Given the description of an element on the screen output the (x, y) to click on. 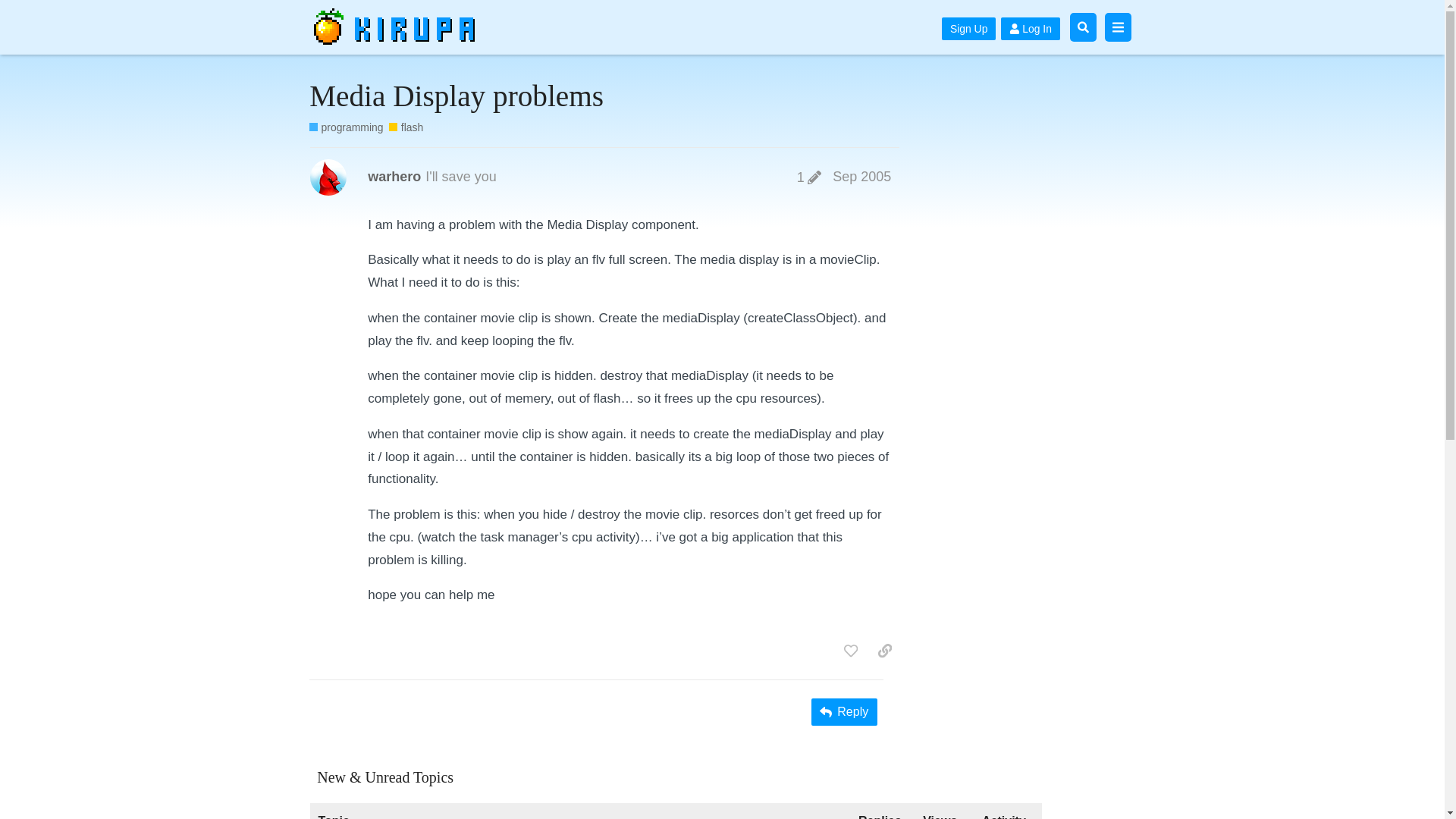
flash (405, 127)
post last edited on Oct 18, 2014 3:12 pm (809, 177)
Reply (843, 711)
programming (345, 127)
Post date (861, 176)
kirupaForum (401, 27)
Sign Up (968, 28)
Search (1082, 26)
menu (1117, 26)
1 (809, 177)
Media Display problems (456, 95)
like this post (849, 650)
Log In (1030, 28)
copy a link to this post to clipboard (884, 650)
warhero (394, 176)
